Given the description of an element on the screen output the (x, y) to click on. 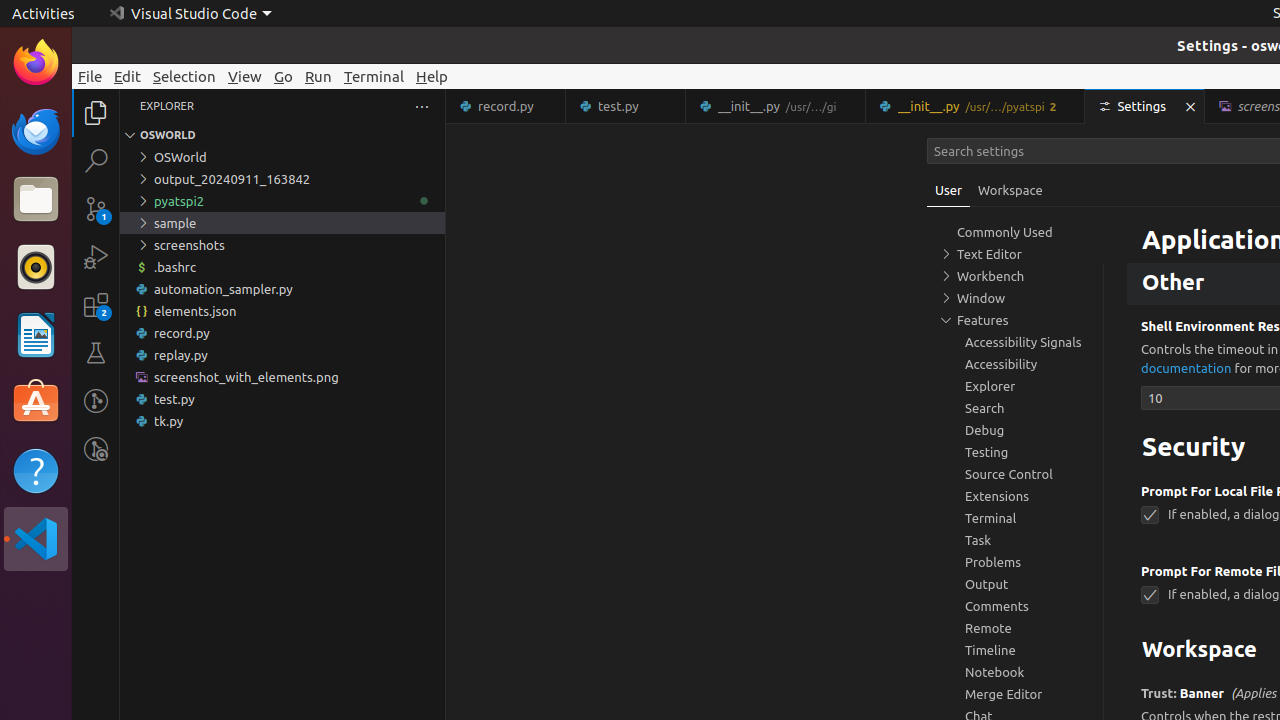
Task, group Element type: tree-item (1015, 540)
Run Element type: push-button (318, 76)
Debug, group Element type: tree-item (1015, 430)
OSWorld Element type: tree-item (282, 157)
